Given the description of an element on the screen output the (x, y) to click on. 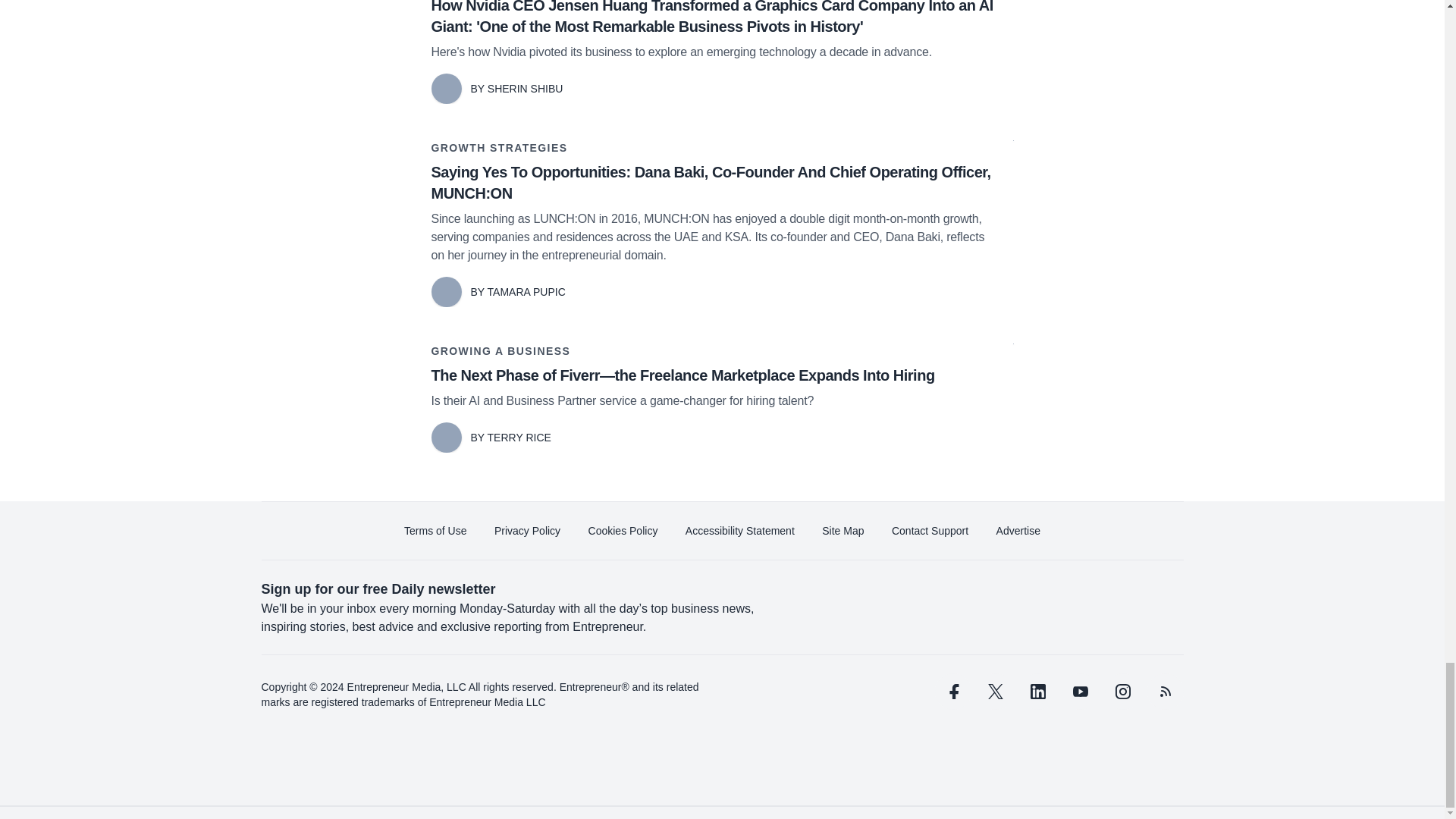
linkedin (1037, 691)
youtube (1079, 691)
instagram (1121, 691)
rss (1164, 691)
facebook (952, 691)
twitter (994, 691)
